Given the description of an element on the screen output the (x, y) to click on. 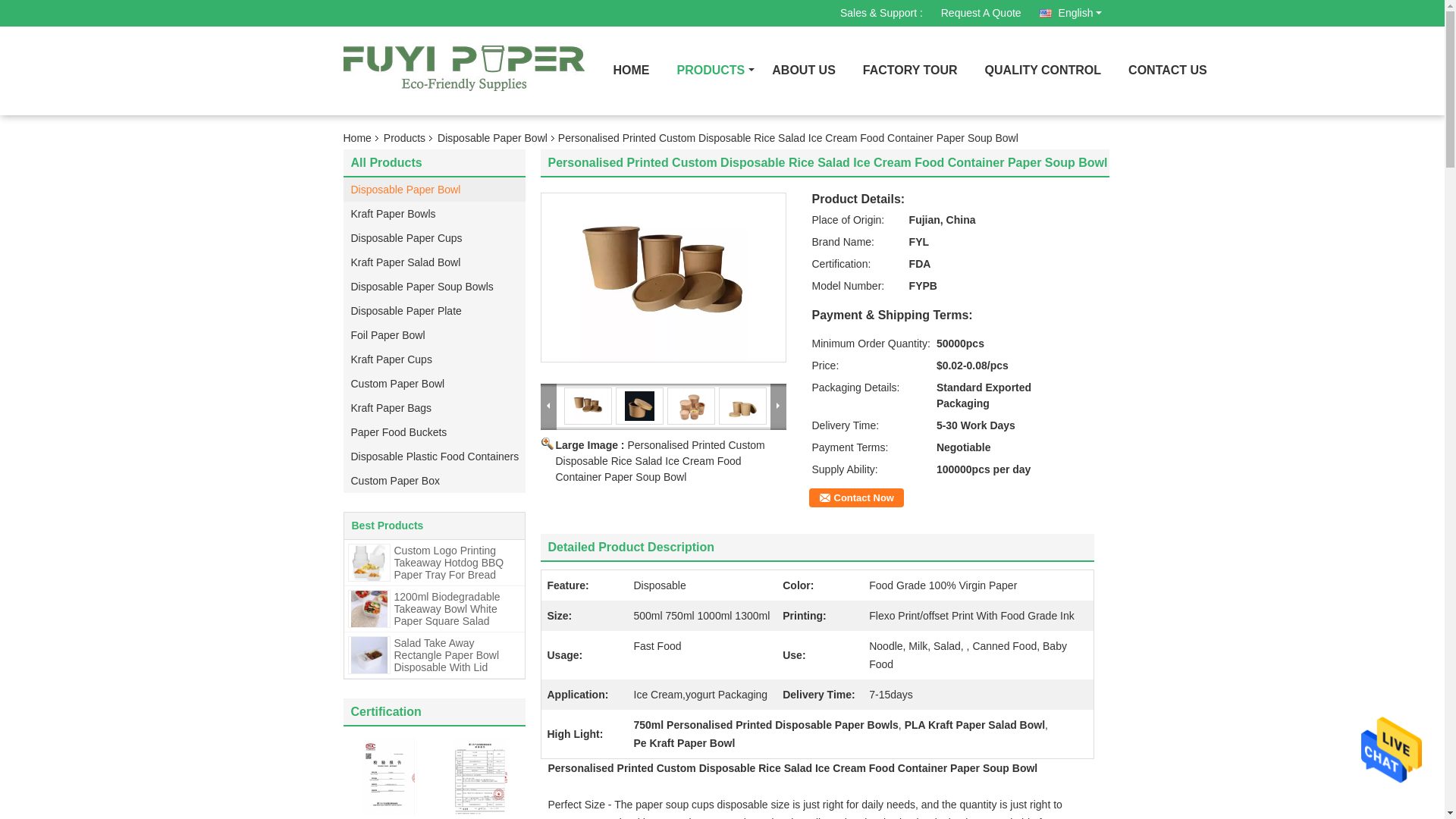
Xiamen Fuyilun Industry And Trade Co., Ltd (981, 13)
PRODUCTS (710, 70)
HOME (630, 70)
English (1069, 9)
Request A Quote (981, 13)
